Given the description of an element on the screen output the (x, y) to click on. 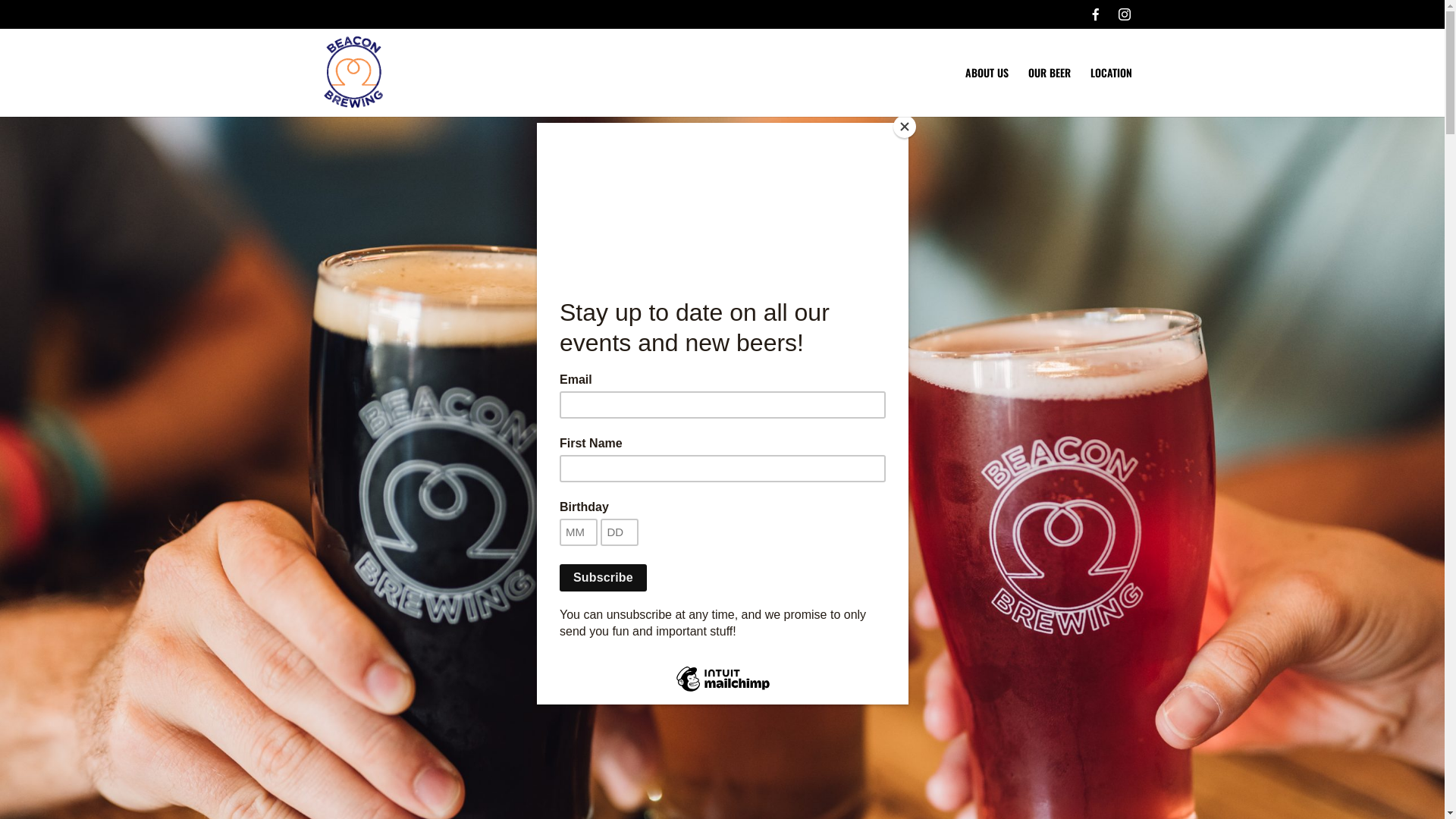
ABOUT US Element type: text (985, 91)
OUR BEER Element type: text (1049, 91)
LOCATION Element type: text (1111, 91)
